Given the description of an element on the screen output the (x, y) to click on. 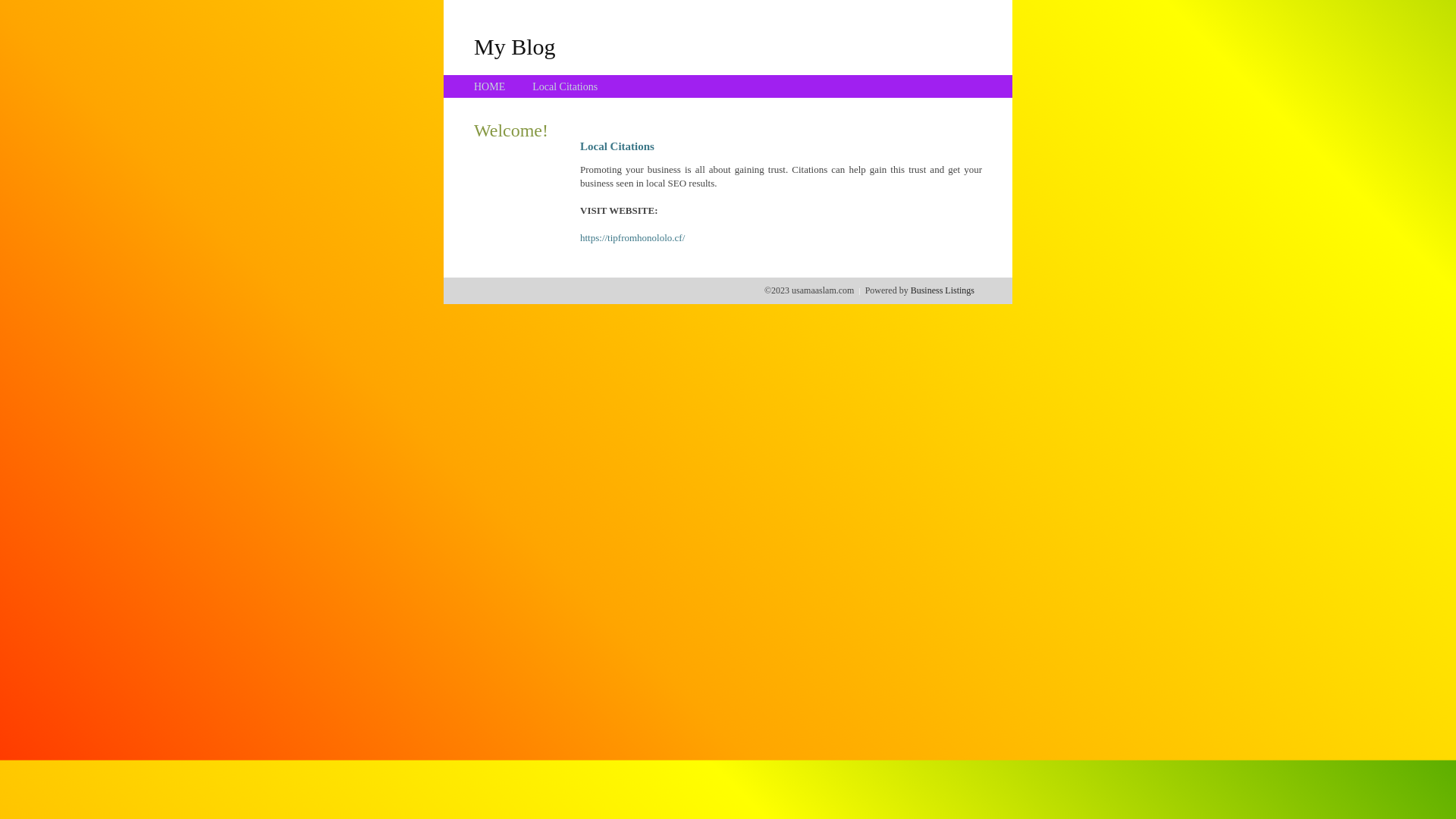
Local Citations Element type: text (564, 86)
Business Listings Element type: text (942, 290)
HOME Element type: text (489, 86)
My Blog Element type: text (514, 46)
https://tipfromhonololo.cf/ Element type: text (632, 237)
